Given the description of an element on the screen output the (x, y) to click on. 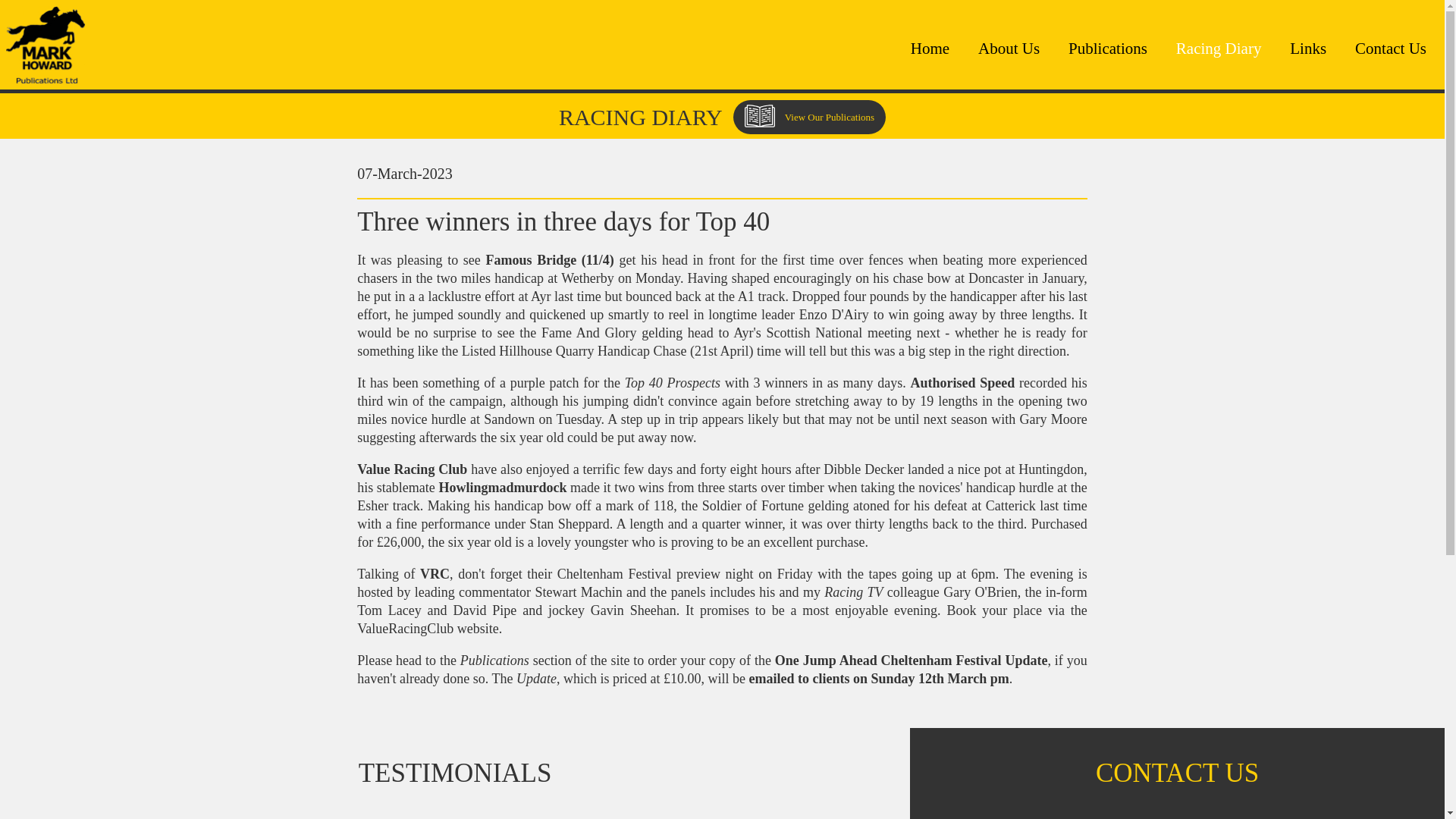
Links (1308, 48)
About Us (1008, 48)
Racing Diary (1219, 48)
Home (930, 48)
Publications (1107, 48)
About Us (1008, 48)
Home (930, 48)
Contact Us (1390, 48)
View Our Publications (809, 116)
Racing Diary (1219, 48)
Publications (1107, 48)
Links (1308, 48)
Contact Us (1390, 48)
